Given the description of an element on the screen output the (x, y) to click on. 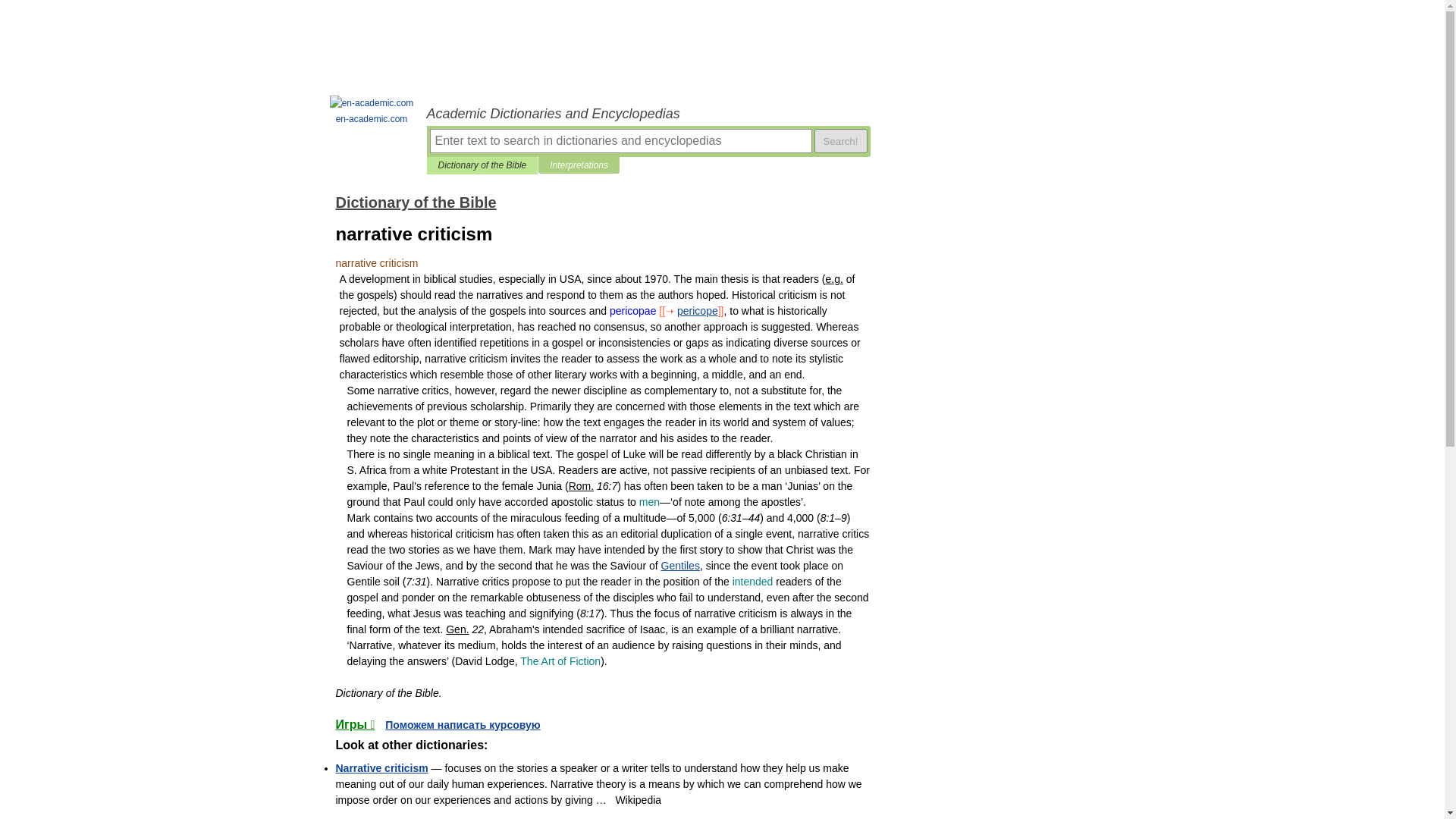
Dictionary of the Bible (482, 165)
pericope (697, 310)
Academic Dictionaries and Encyclopedias (647, 114)
Gentiles (680, 565)
Narrative criticism (381, 767)
Interpretations (579, 165)
Dictionary of the Bible (415, 202)
Enter text to search in dictionaries and encyclopedias (619, 140)
en-academic.com (371, 111)
Search! (840, 140)
